Given the description of an element on the screen output the (x, y) to click on. 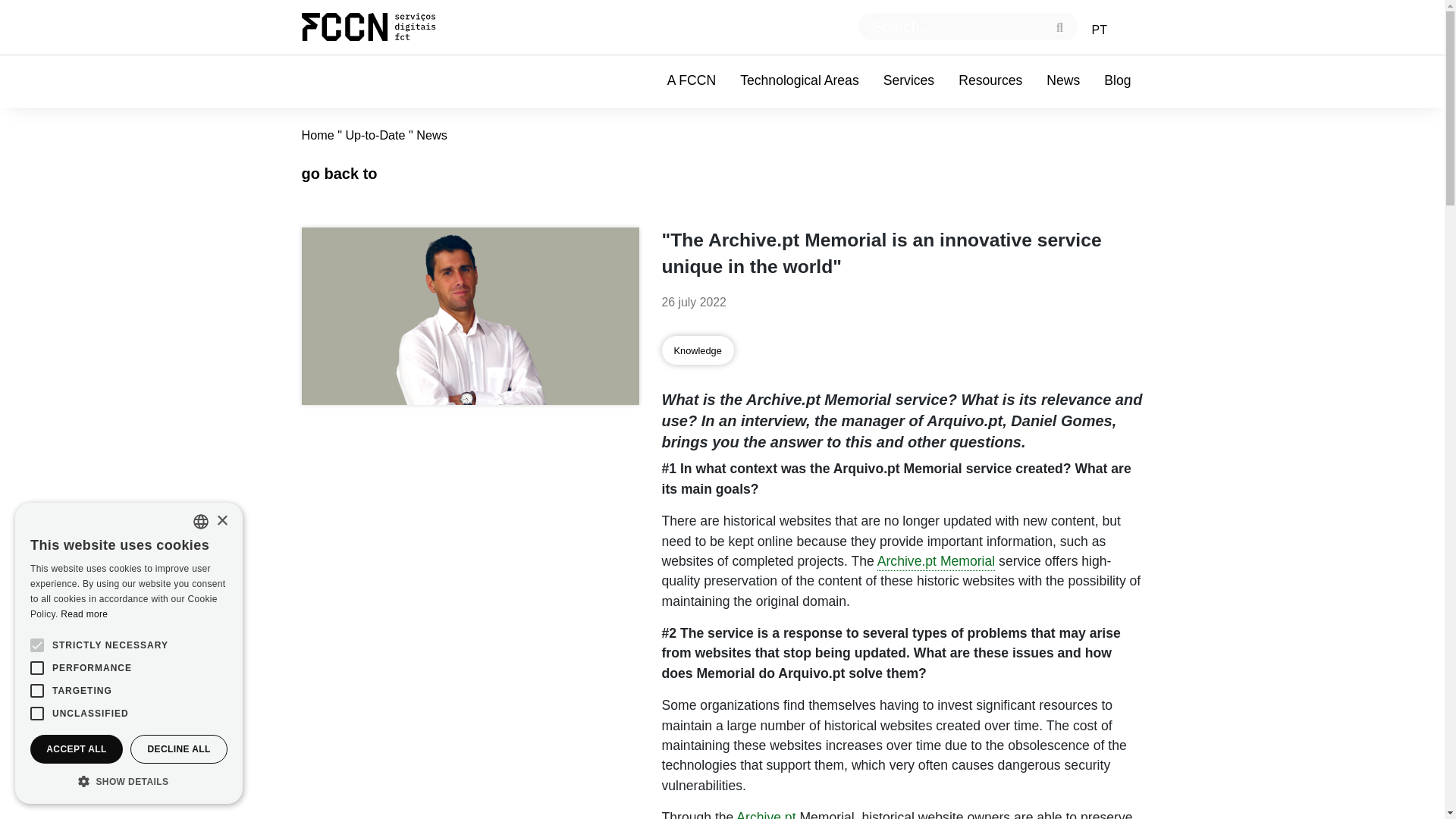
Knowledge (697, 349)
Home (380, 26)
content on FCCN (692, 81)
Blog (1117, 81)
Archive.pt (765, 814)
Procurar no site (968, 26)
where the Unit operates FCCN (799, 81)
Technological Areas (799, 81)
PT (1098, 29)
FCCN FCT digital services (380, 26)
Home (317, 135)
go back to (339, 173)
News (1062, 81)
Resources (989, 81)
Archive.pt Memorial (935, 561)
